Given the description of an element on the screen output the (x, y) to click on. 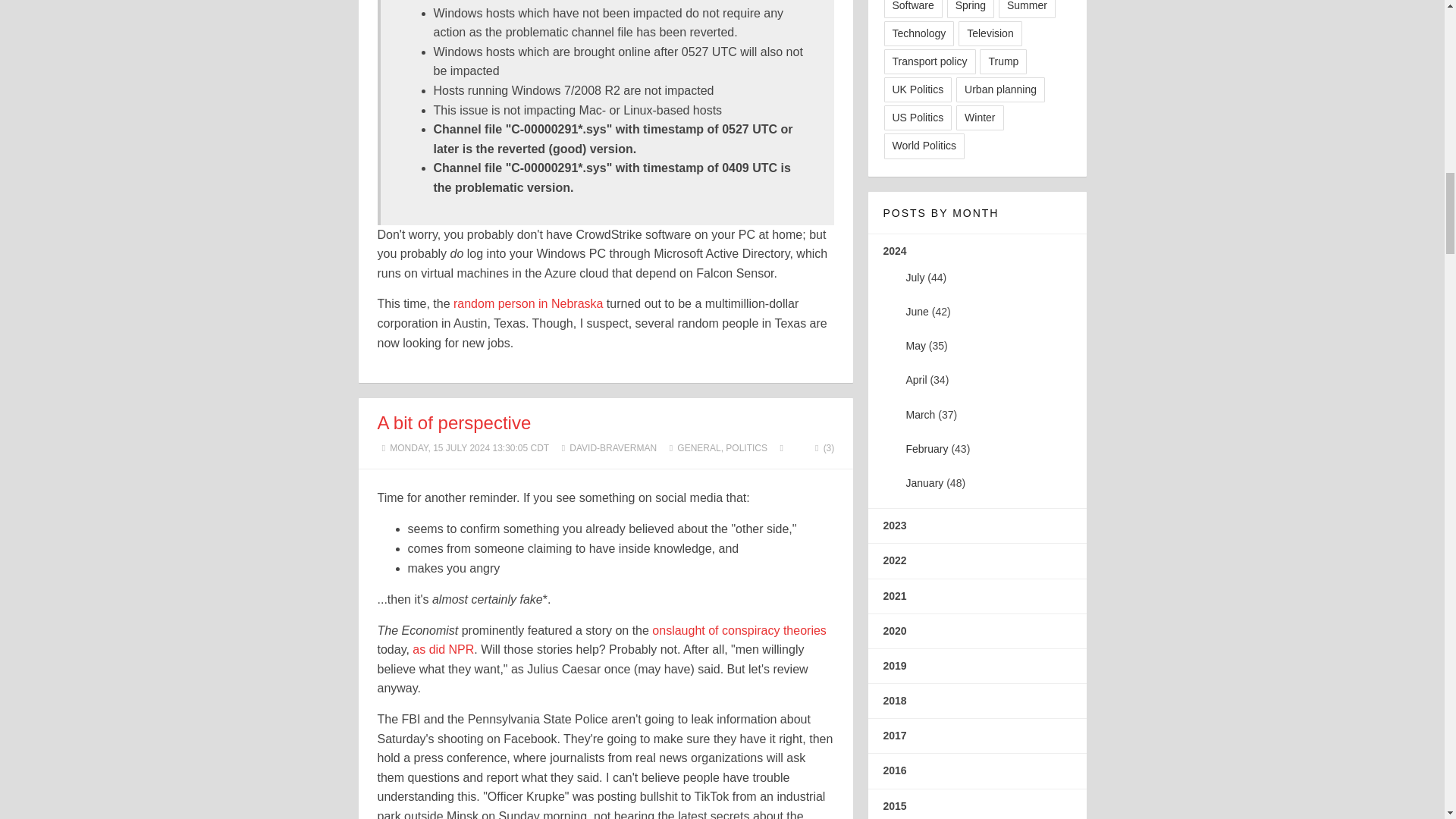
DAVID-BRAVERMAN (612, 448)
A bit of perspective (454, 422)
random person in Nebraska (527, 303)
GENERAL (698, 448)
POLITICS (746, 448)
Open a map of the location where this post was written (780, 448)
